Given the description of an element on the screen output the (x, y) to click on. 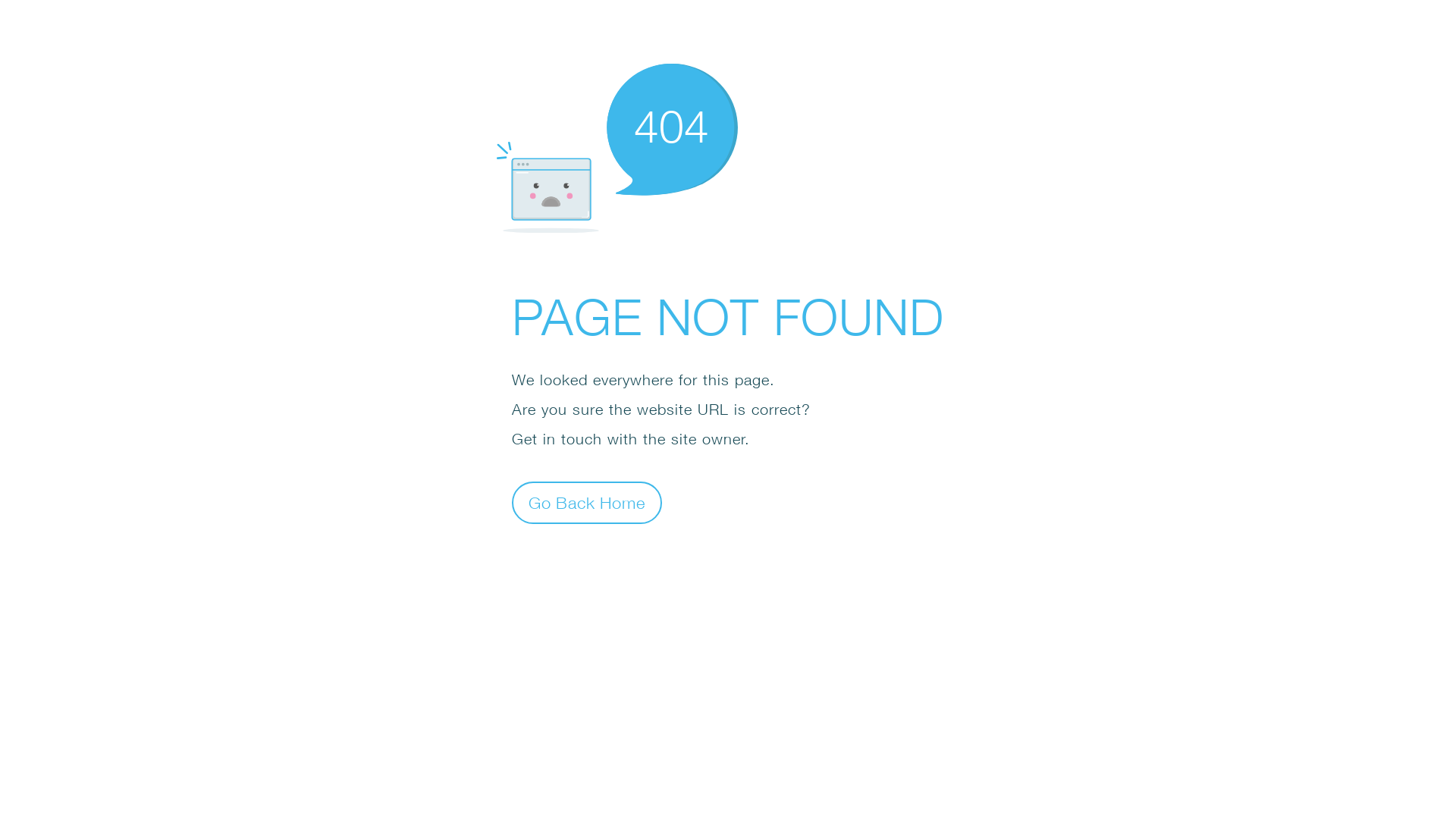
Go Back Home Element type: text (586, 502)
